Given the description of an element on the screen output the (x, y) to click on. 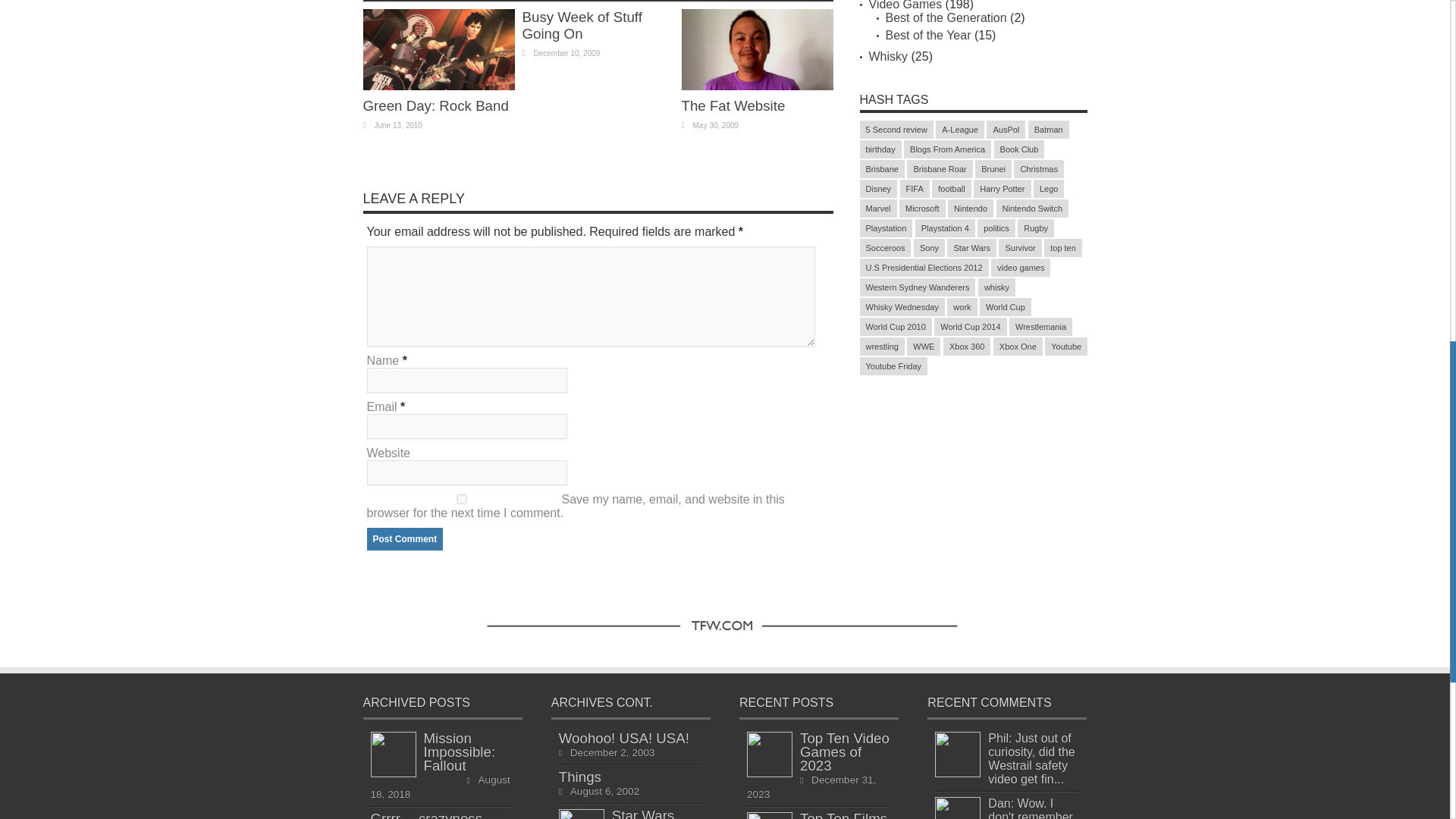
Permalink to Busy Week of Stuff Going On (581, 25)
Permalink to The Fat Website (732, 105)
AVERAGE (489, 80)
Permalink to Green Day: Rock Band (435, 105)
Permalink to Green Day: Rock Band (437, 85)
yes (461, 499)
Permalink to The Fat Website (756, 85)
Post Comment (405, 538)
